Given the description of an element on the screen output the (x, y) to click on. 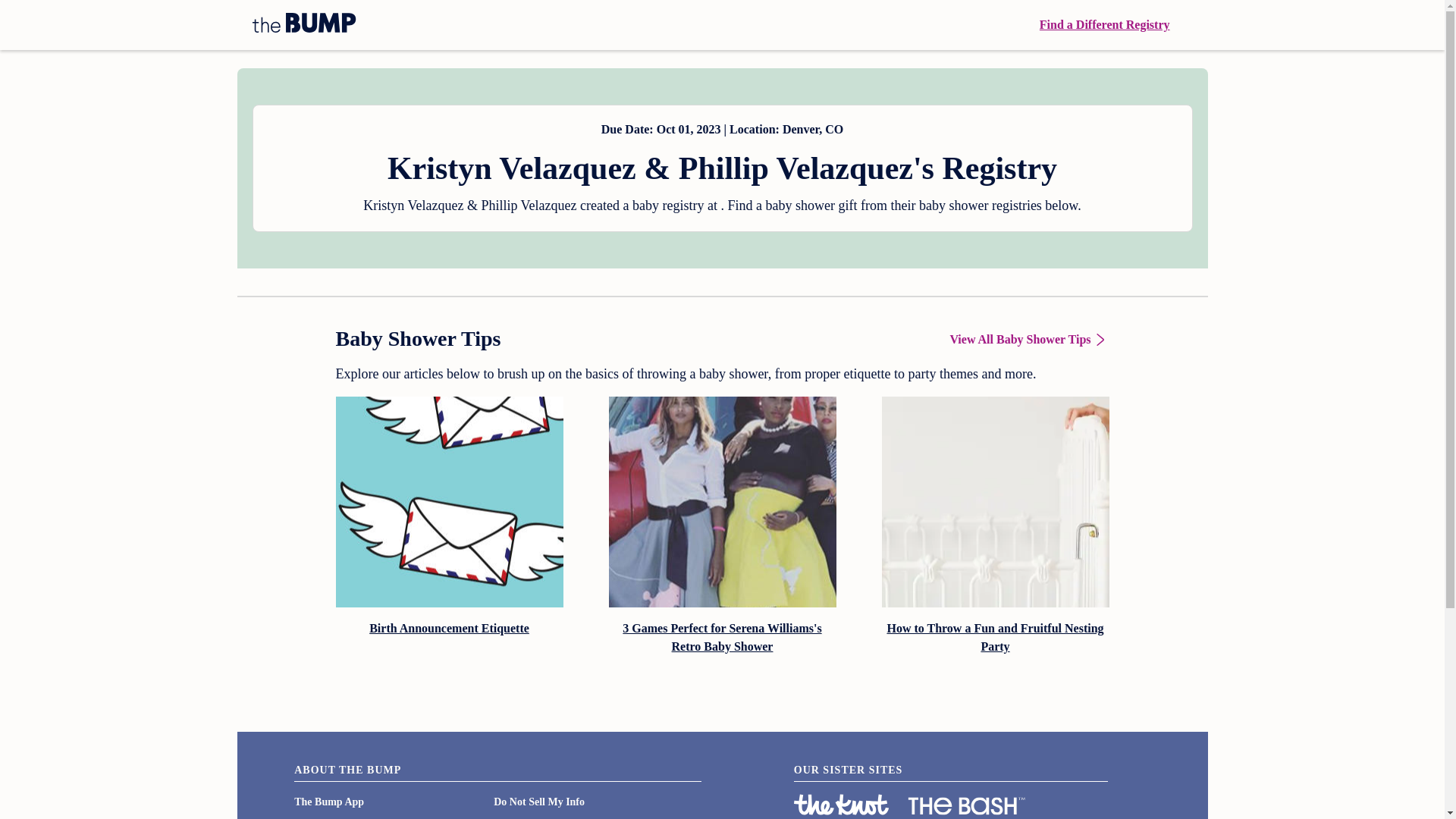
View All Baby Shower Tips (1028, 339)
Find a Different Registry (1104, 24)
The Bump App (329, 801)
Do Not Sell My Info (539, 801)
